Given the description of an element on the screen output the (x, y) to click on. 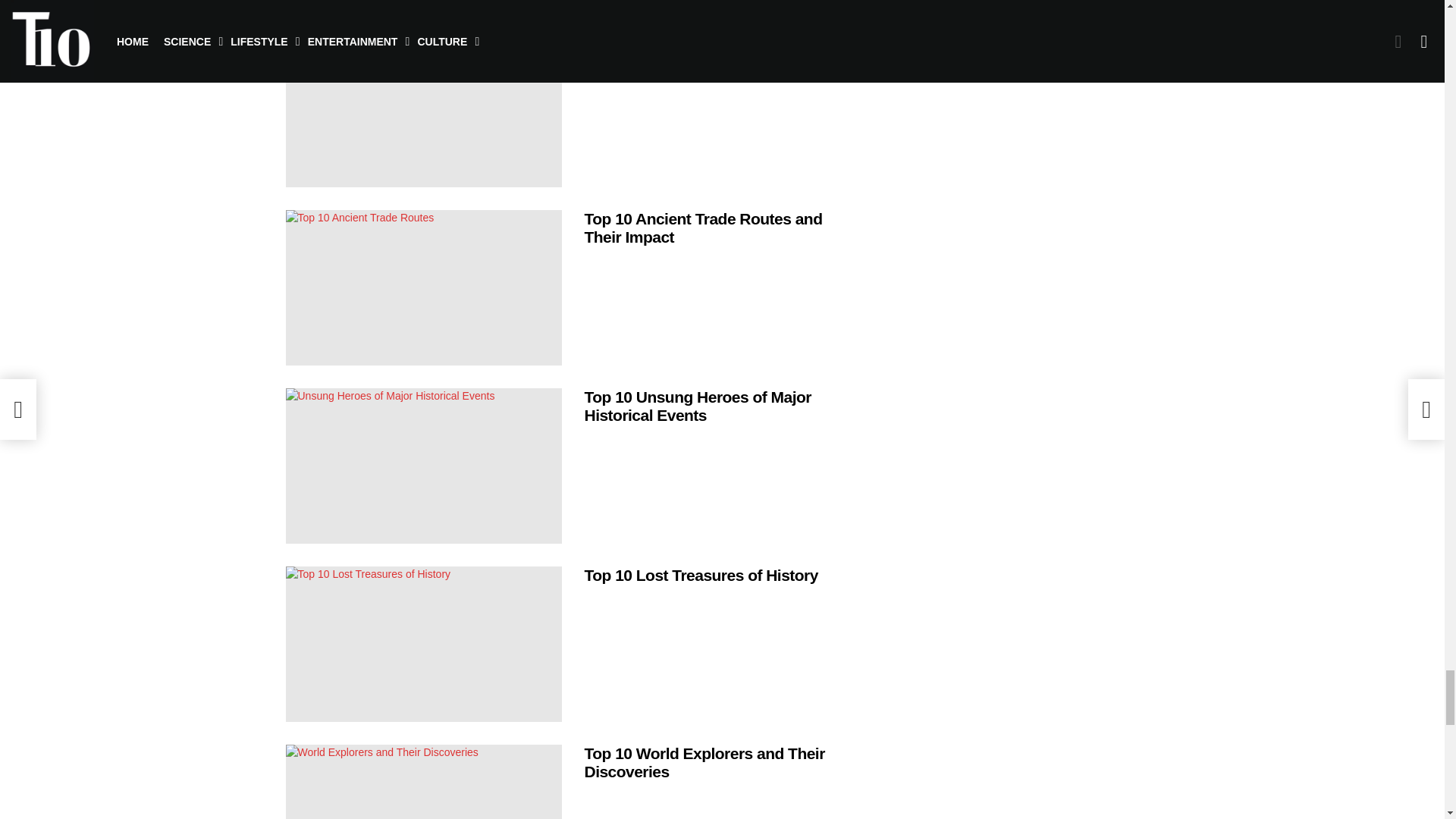
Top 10 Ancient Trade Routes and Their Impact (422, 287)
Top 10 Lost Treasures of History (422, 643)
Top 10 Unsung Heroes of Major Historical Events (422, 465)
Top 10 Turning Points in World War II (422, 109)
